Given the description of an element on the screen output the (x, y) to click on. 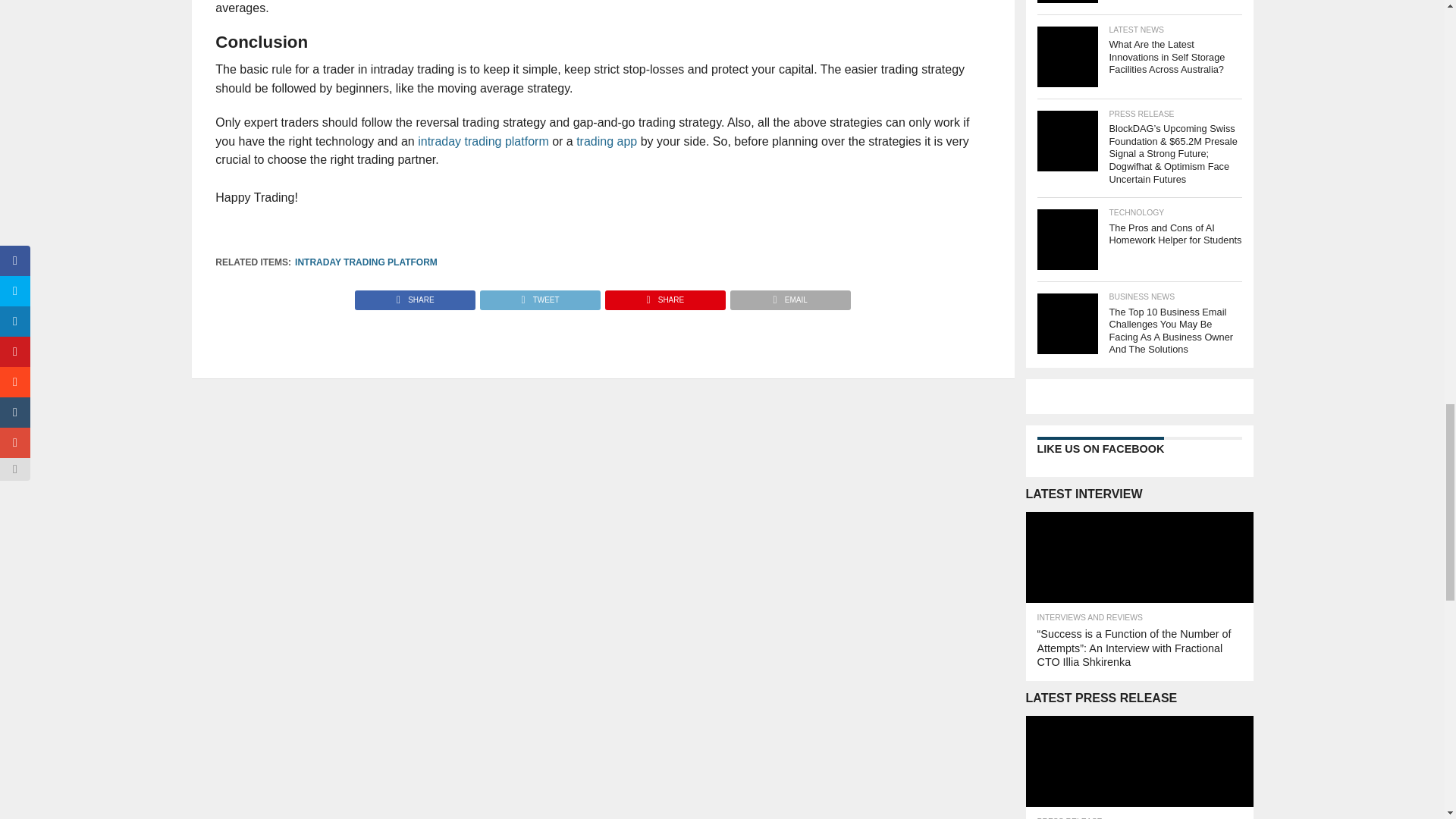
Share on Facebook (415, 295)
Tweet This Post (539, 295)
Pin This Post (664, 295)
